Given the description of an element on the screen output the (x, y) to click on. 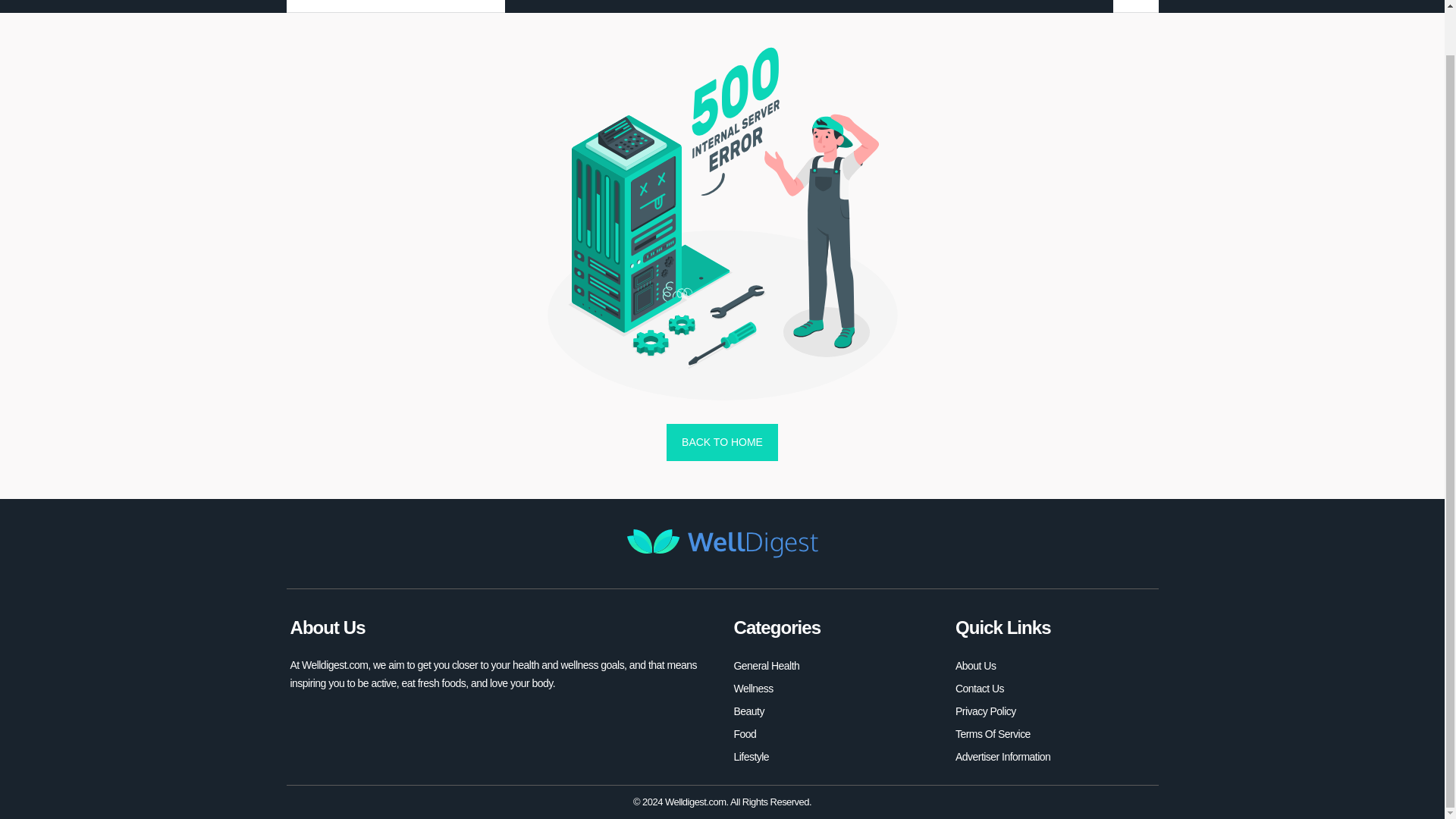
Beauty (748, 710)
BACK TO HOME (721, 442)
Lifestyle (751, 756)
Food (745, 733)
Advertiser Information (1002, 756)
Wellness (753, 688)
Privacy Policy (985, 710)
Contact Us (979, 688)
Terms Of Service (992, 733)
General Health (766, 665)
